Given the description of an element on the screen output the (x, y) to click on. 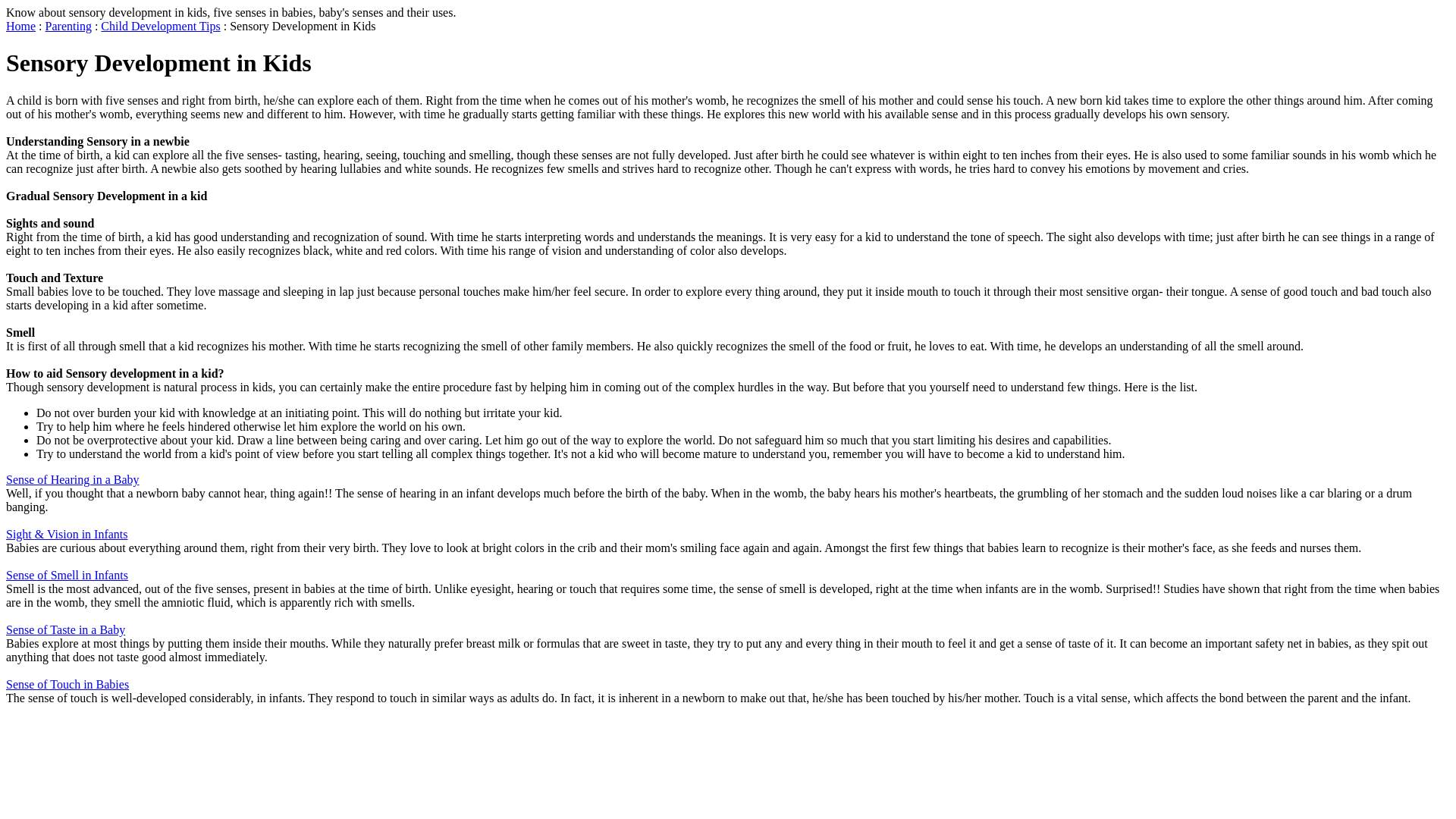
Sense of Touch in Babies (67, 684)
Sense of Smell in Infants (66, 574)
Parenting (68, 25)
Sense of Hearing in a Baby (72, 479)
Child Development Tips (159, 25)
Sense of Taste in a Baby (65, 629)
Home (19, 25)
